Given the description of an element on the screen output the (x, y) to click on. 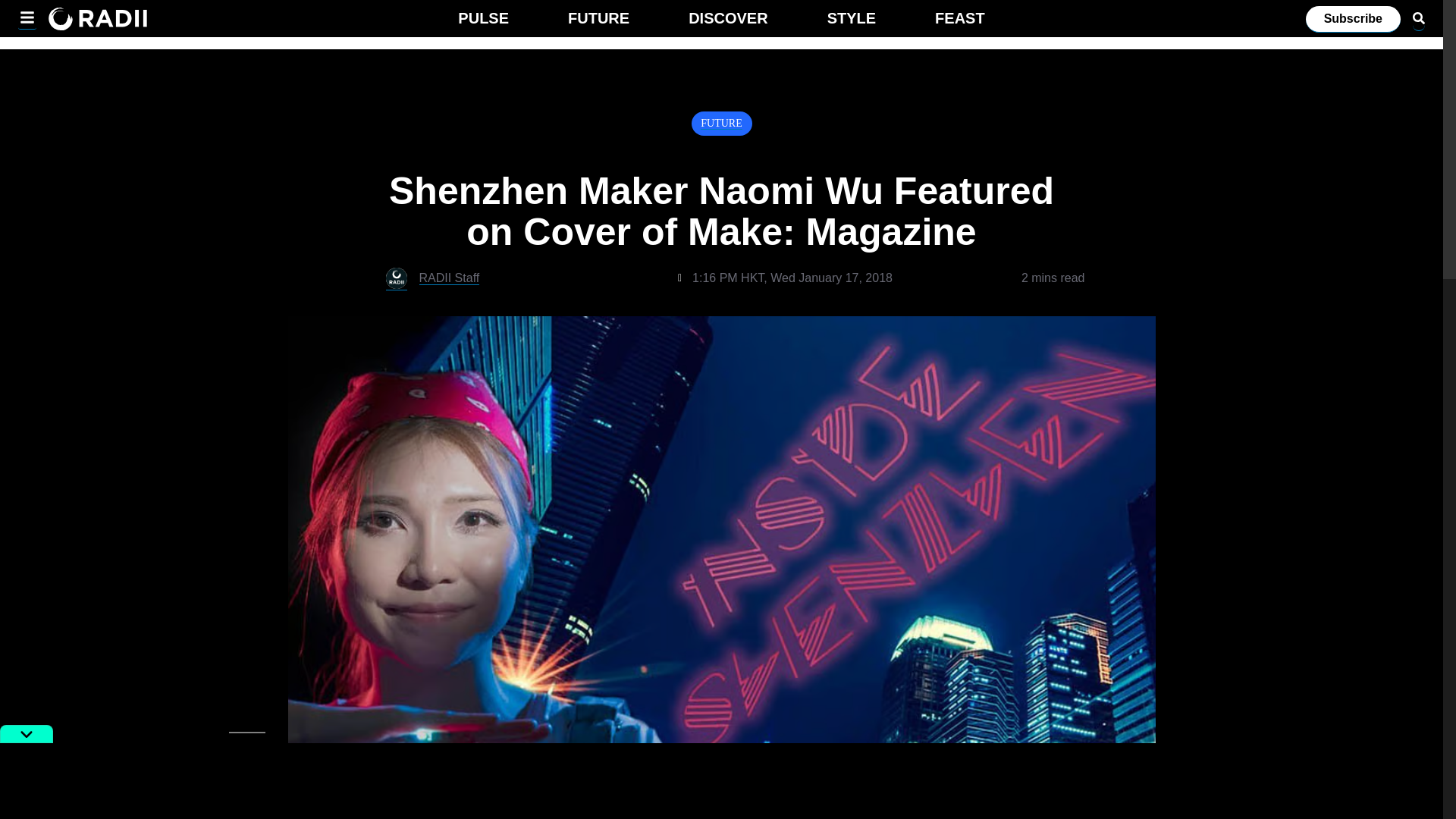
PULSE (483, 21)
RADII Staff (449, 278)
FUTURE (598, 21)
DISCOVER (727, 21)
FUTURE (720, 123)
FEAST (959, 21)
STYLE (851, 21)
Subscribe (1353, 18)
